Given the description of an element on the screen output the (x, y) to click on. 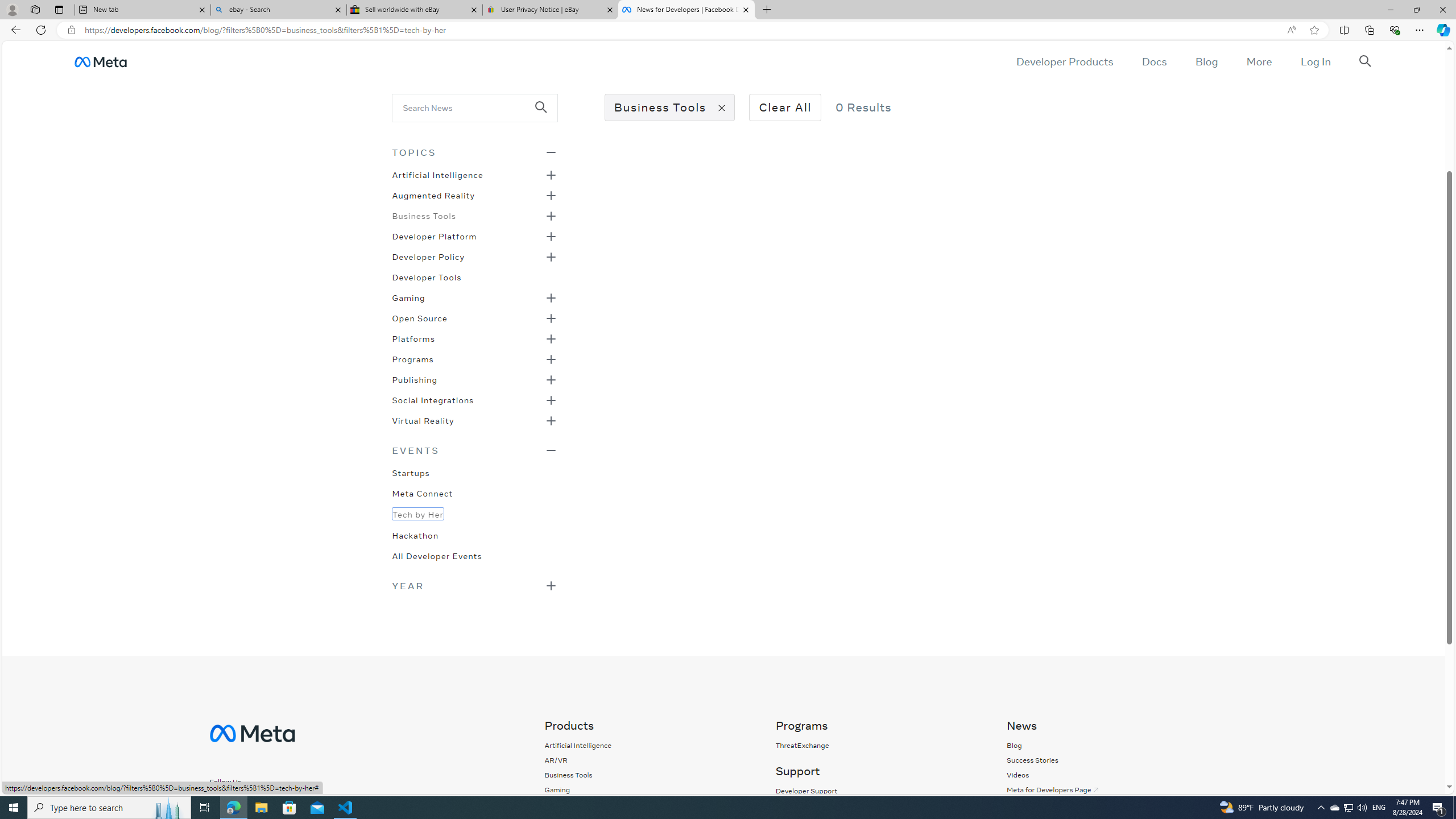
Developer Products (1064, 61)
Meta for Developers Page (1053, 789)
Publishing (414, 378)
Videos (1110, 774)
Blog (1110, 744)
Developer Platform (434, 235)
Platforms (413, 337)
AR/VR (555, 759)
Developer Tools (426, 276)
User Privacy Notice | eBay (550, 9)
Artificial Intelligence (577, 745)
Artificial Intelligence (577, 744)
